Given the description of an element on the screen output the (x, y) to click on. 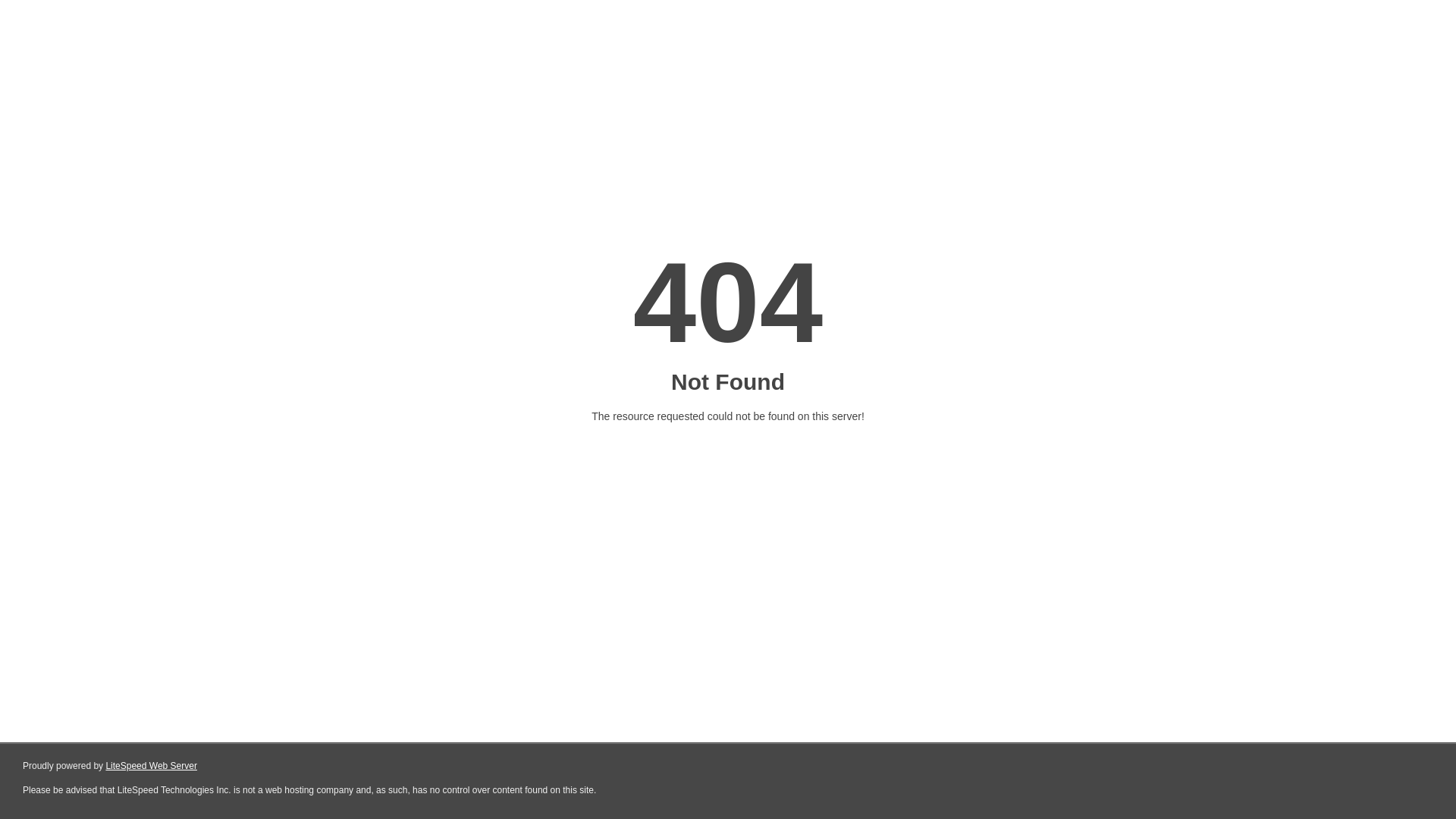
LiteSpeed Web Server Element type: text (151, 765)
